Given the description of an element on the screen output the (x, y) to click on. 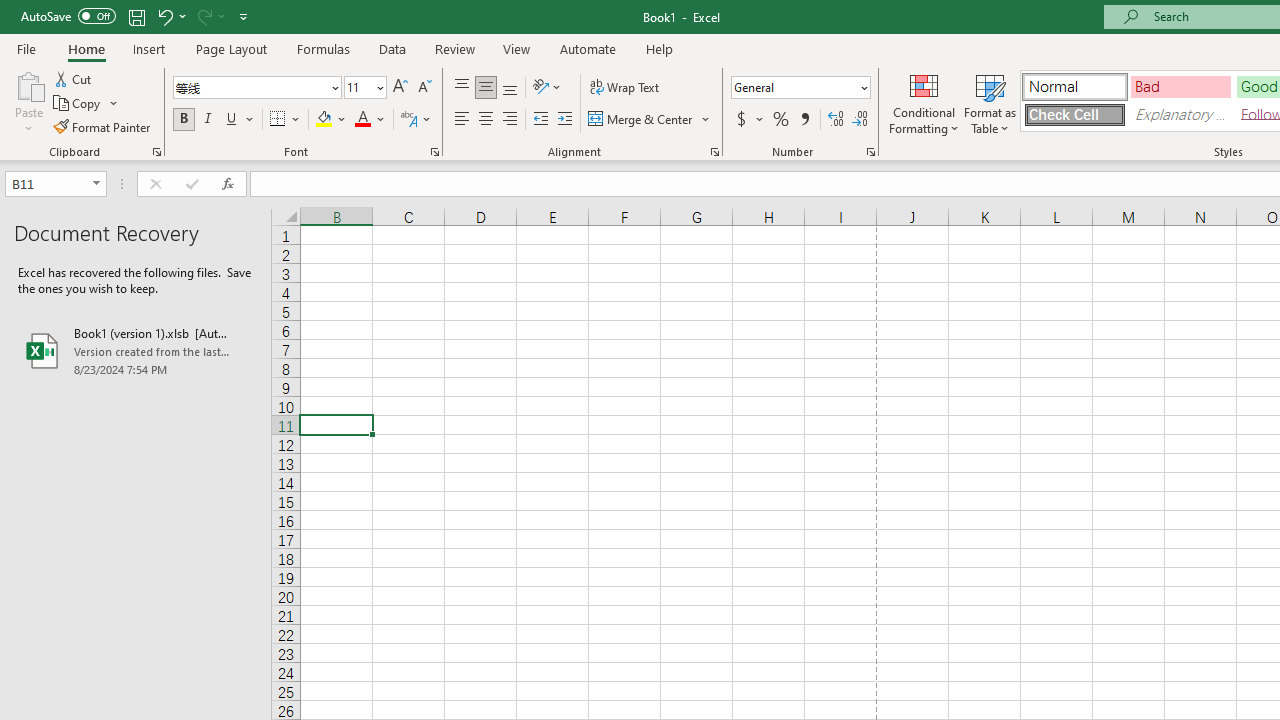
Align Right (509, 119)
Format Cell Alignment (714, 151)
Number Format (794, 87)
Decrease Decimal (859, 119)
Fill Color RGB(255, 255, 0) (324, 119)
Increase Indent (565, 119)
Percent Style (781, 119)
Office Clipboard... (156, 151)
Merge & Center (641, 119)
Number Format (800, 87)
Paste (28, 84)
Align Left (461, 119)
